Given the description of an element on the screen output the (x, y) to click on. 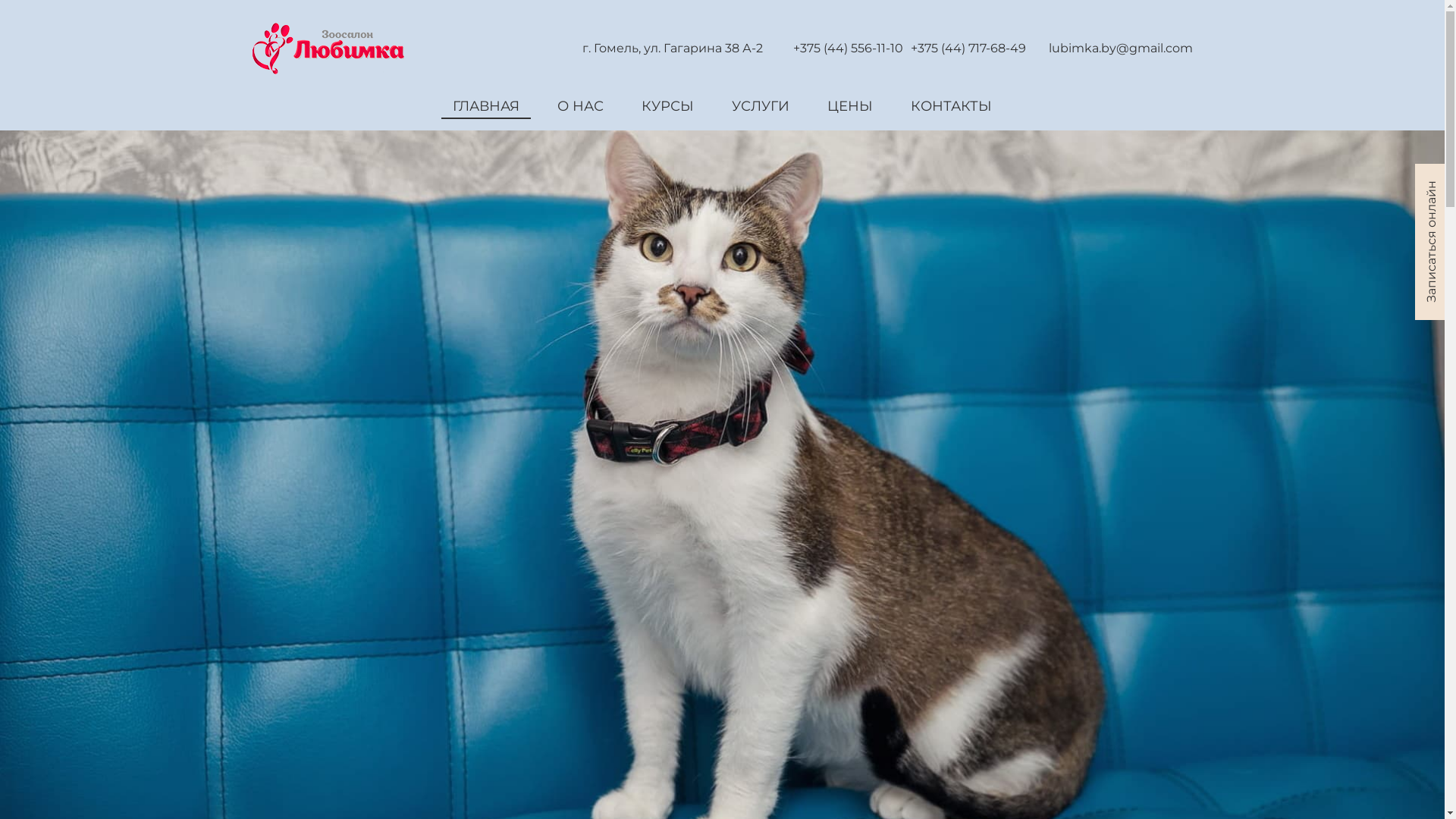
+375 (44) 556-11-10 Element type: text (848, 47)
+375 (44) 717-68-49 Element type: text (967, 47)
